Given the description of an element on the screen output the (x, y) to click on. 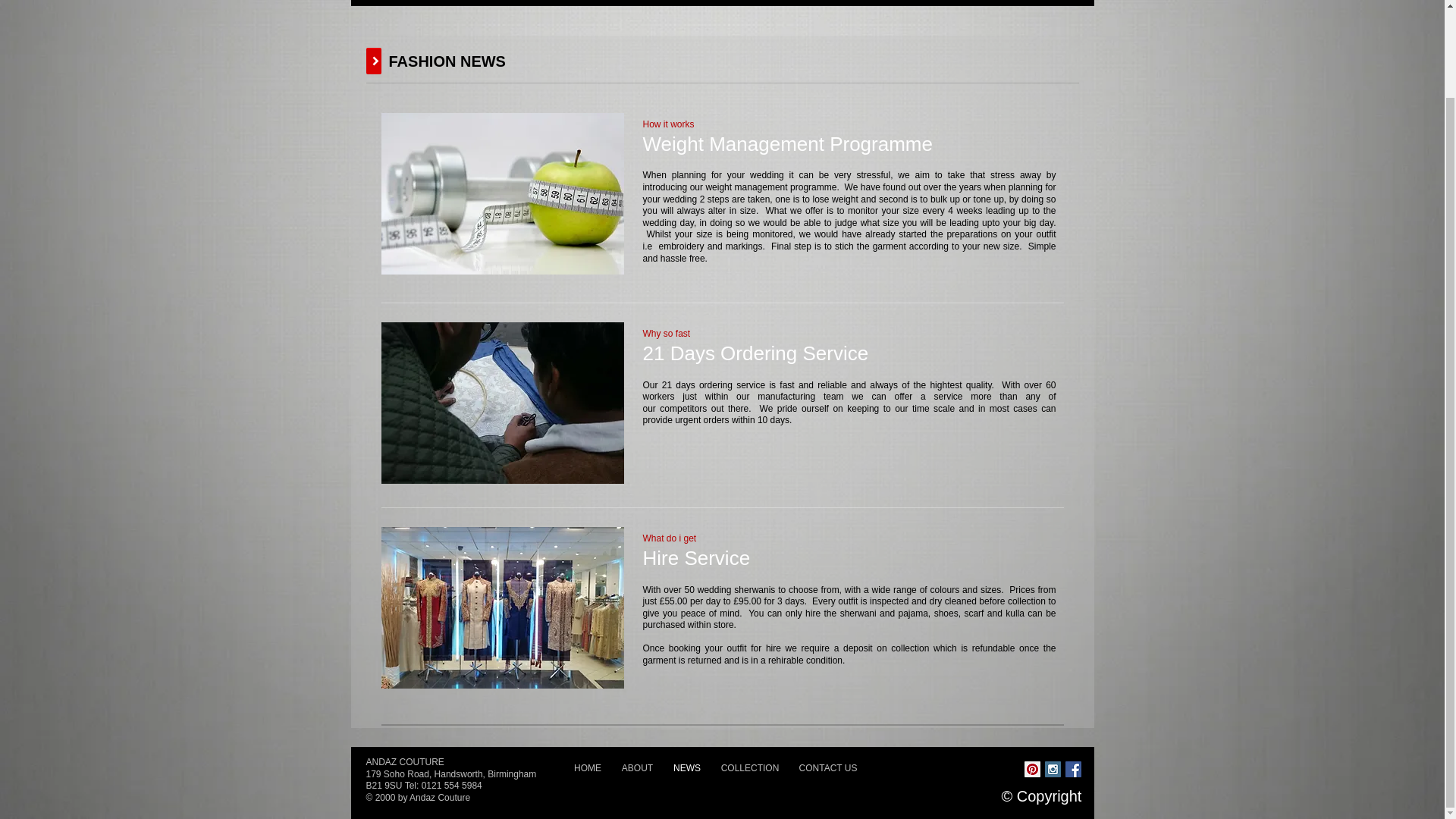
ABOUT (636, 767)
HOME (587, 767)
apple-measuring-tape.jpg (501, 193)
COLLECTION (750, 767)
NEWS (686, 767)
IMG-20160104-WA0012.jpg (501, 403)
CONTACT US (827, 767)
